Given the description of an element on the screen output the (x, y) to click on. 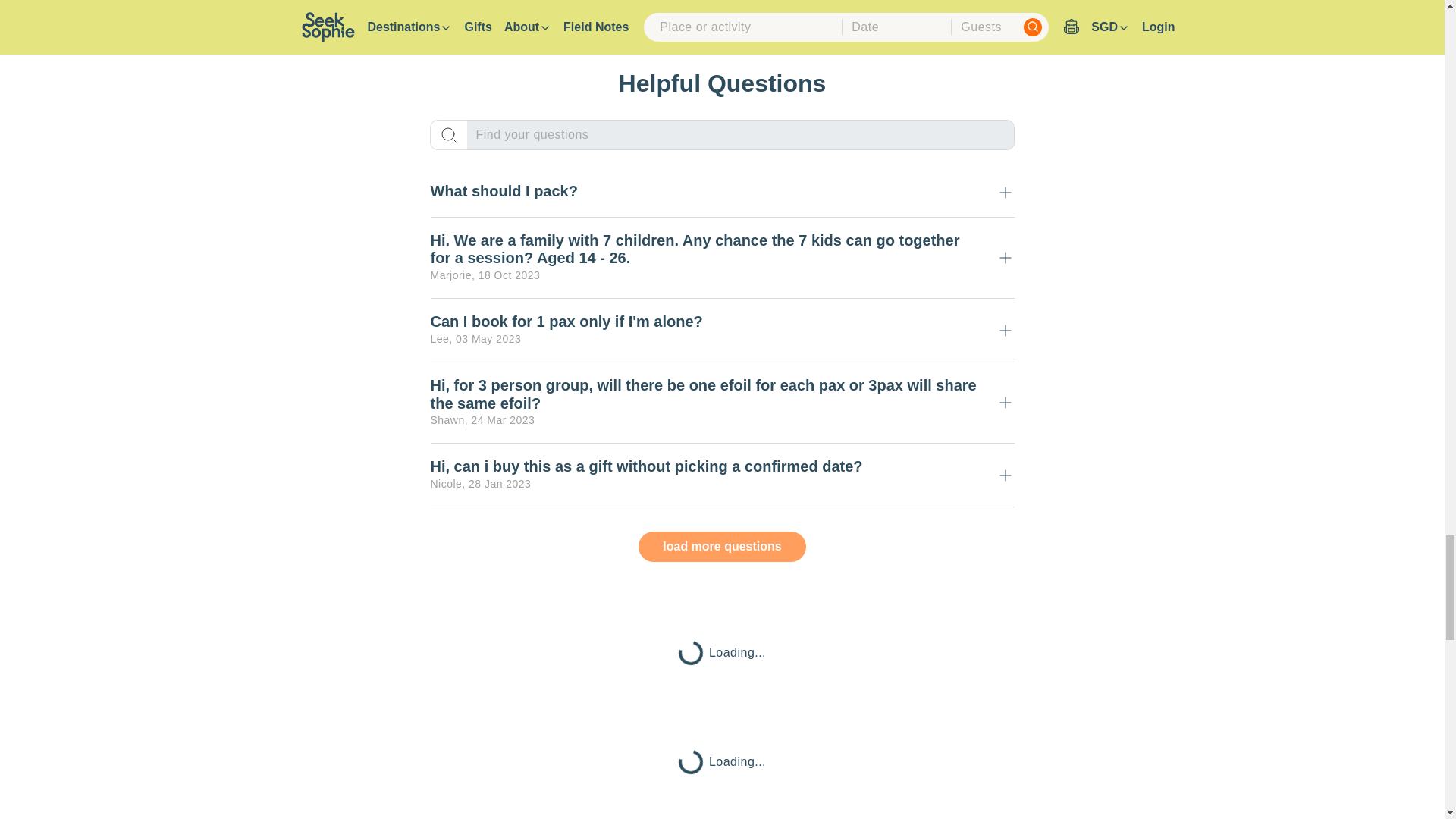
load more questions (722, 546)
